Given the description of an element on the screen output the (x, y) to click on. 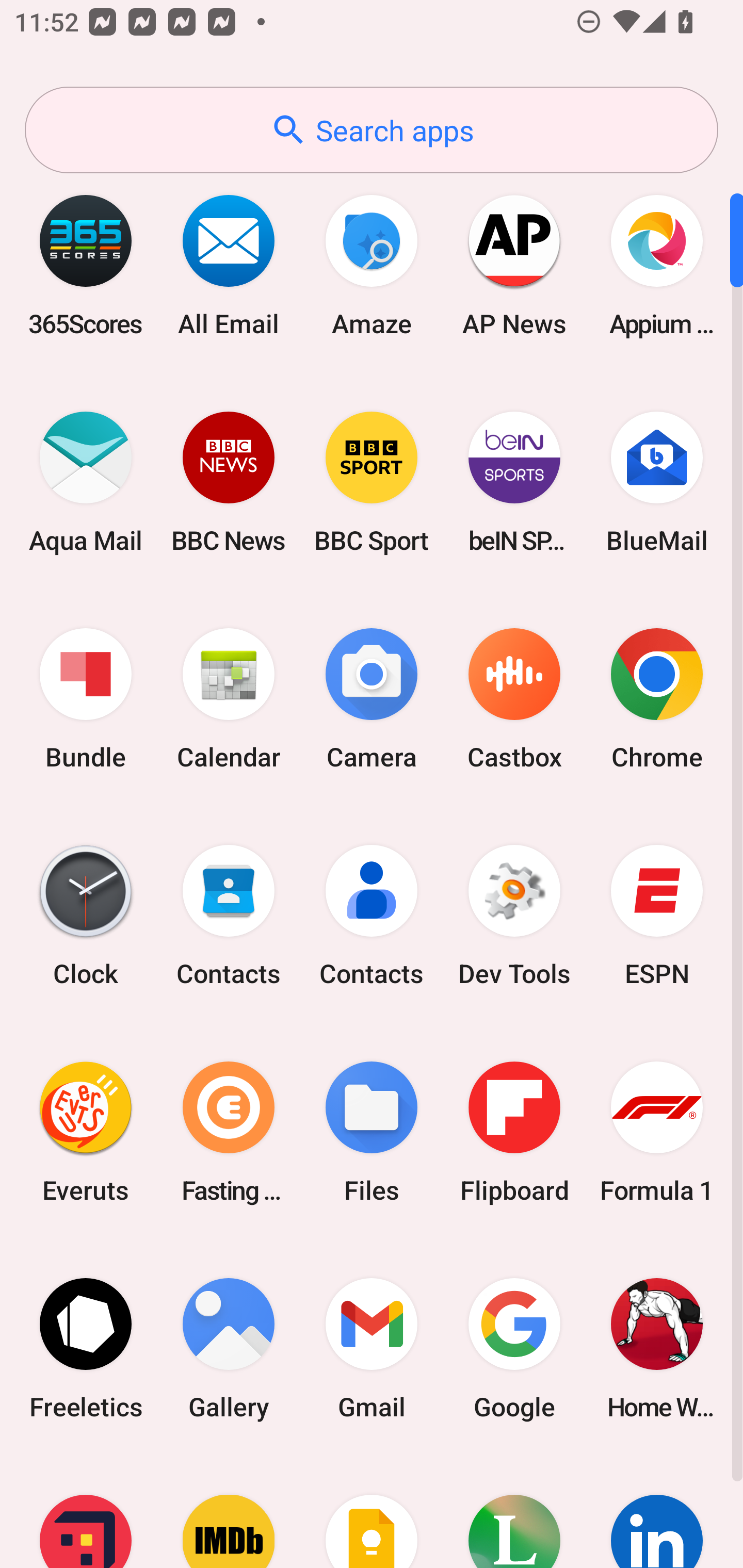
  Search apps (371, 130)
365Scores (85, 264)
All Email (228, 264)
Amaze (371, 264)
AP News (514, 264)
Appium Settings (656, 264)
Aqua Mail (85, 482)
BBC News (228, 482)
BBC Sport (371, 482)
beIN SPORTS (514, 482)
BlueMail (656, 482)
Bundle (85, 699)
Calendar (228, 699)
Camera (371, 699)
Castbox (514, 699)
Chrome (656, 699)
Clock (85, 915)
Contacts (228, 915)
Contacts (371, 915)
Dev Tools (514, 915)
ESPN (656, 915)
Everuts (85, 1131)
Fasting Coach (228, 1131)
Files (371, 1131)
Flipboard (514, 1131)
Formula 1 (656, 1131)
Freeletics (85, 1348)
Gallery (228, 1348)
Gmail (371, 1348)
Google (514, 1348)
Home Workout (656, 1348)
Hotels.com (85, 1512)
IMDb (228, 1512)
Keep Notes (371, 1512)
Lifesum (514, 1512)
LinkedIn (656, 1512)
